Given the description of an element on the screen output the (x, y) to click on. 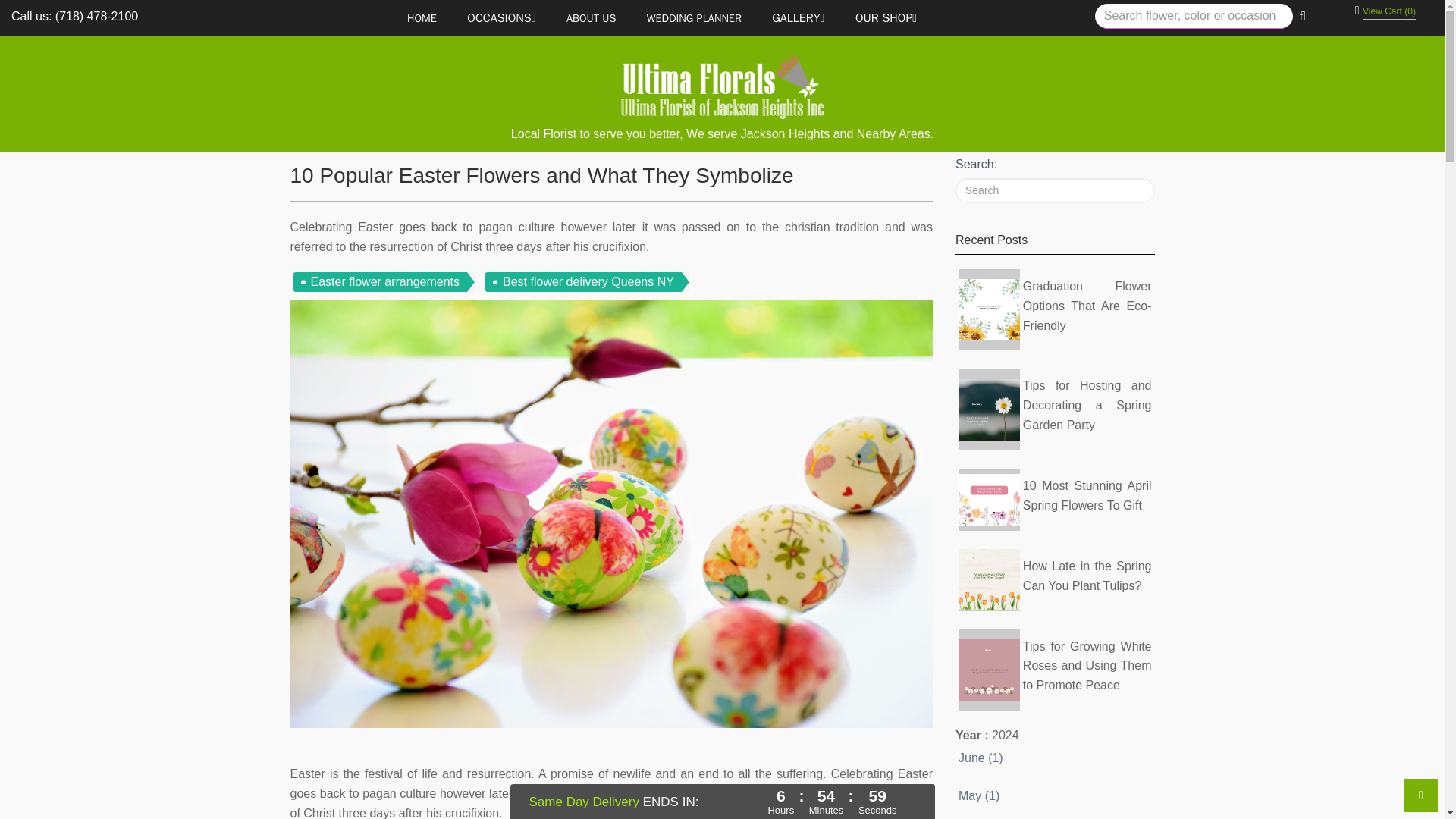
OUR SHOP (885, 18)
ABOUT US (590, 18)
OCCASIONS (500, 18)
HOME (421, 18)
GALLERY (798, 18)
WEDDING PLANNER (694, 18)
